Given the description of an element on the screen output the (x, y) to click on. 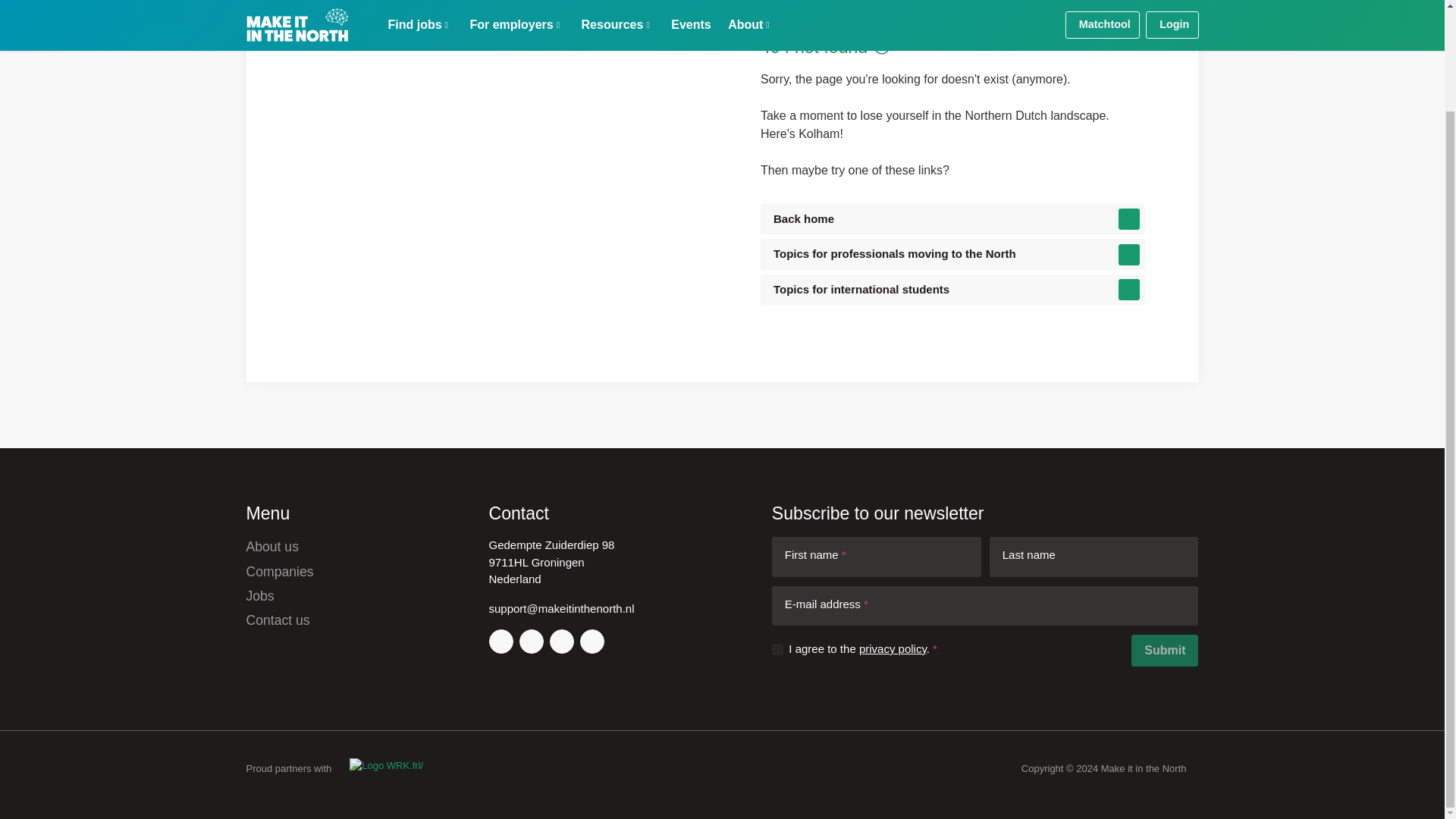
facebook (591, 641)
Back home (952, 219)
instagram (499, 641)
Topics for professionals moving to the North (952, 254)
Submit (1164, 650)
youtube (561, 641)
Topics for international students (952, 289)
linkedin (531, 641)
1 (777, 649)
